Given the description of an element on the screen output the (x, y) to click on. 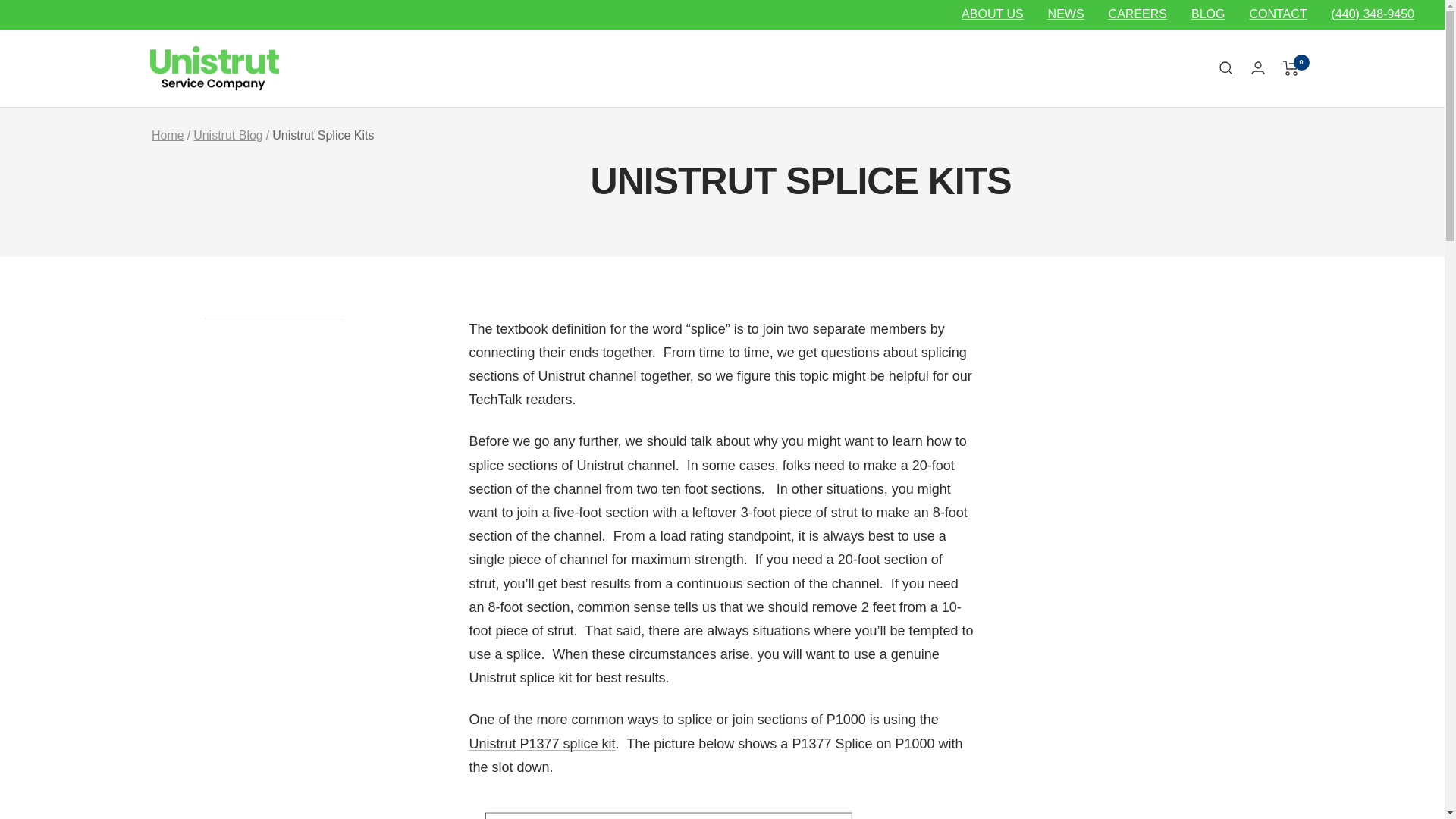
NEWS (1066, 14)
BLOG (1207, 14)
CAREERS (1137, 14)
Unistrut Service Company (213, 68)
Unistrut P1377 splice kit (541, 743)
ABOUT US (991, 14)
Unistrut Blog (228, 134)
0 (1290, 68)
CONTACT (1277, 14)
Home (167, 134)
